Given the description of an element on the screen output the (x, y) to click on. 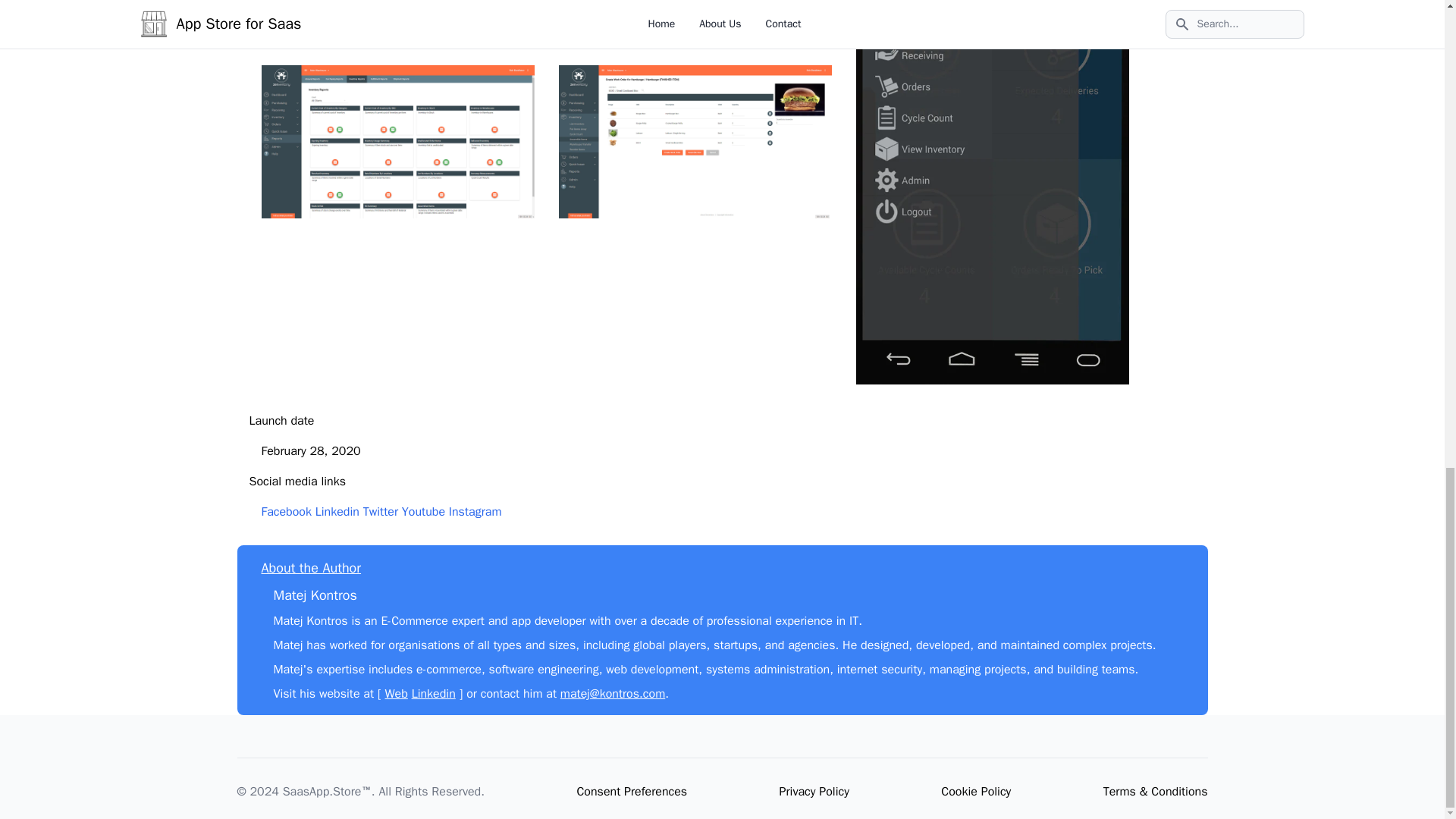
Twitter (379, 511)
Facebook (285, 511)
Privacy Policy (813, 791)
Linkedin (337, 511)
Instagram (475, 511)
Linkedin (433, 693)
Web (395, 693)
Youtube (423, 511)
Consent Preferences (631, 791)
Matej Kontros (314, 595)
Cookie Policy (975, 791)
